Given the description of an element on the screen output the (x, y) to click on. 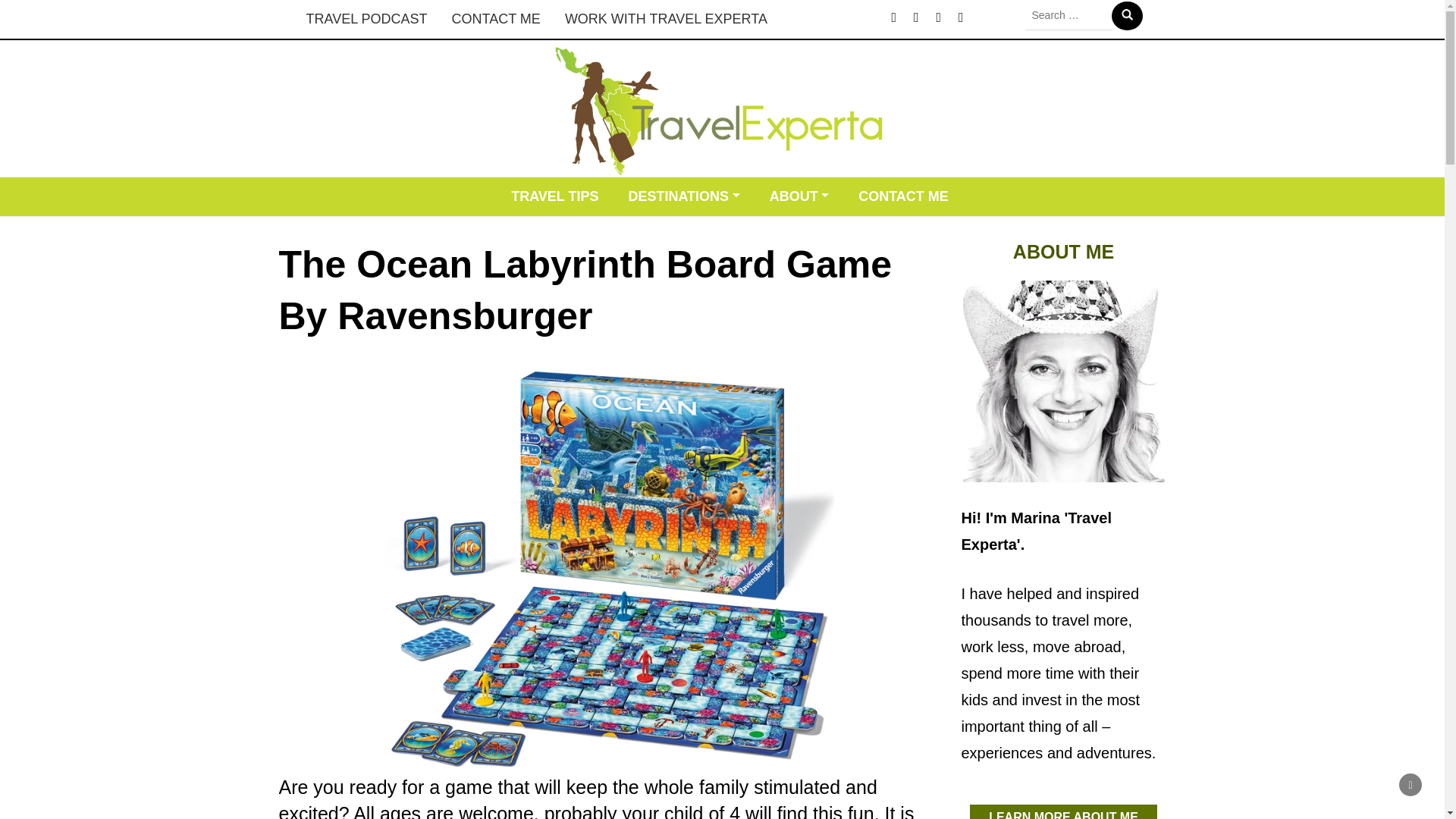
Search for: (1068, 15)
ABOUT (799, 196)
Search (1126, 15)
DESTINATIONS (683, 196)
WORK WITH TRAVEL EXPERTA (665, 19)
CONTACT ME (902, 196)
Search (1126, 15)
TRAVEL TIPS (554, 196)
TRAVEL PODCAST (366, 19)
CONTACT ME (496, 19)
Search (1126, 15)
